Given the description of an element on the screen output the (x, y) to click on. 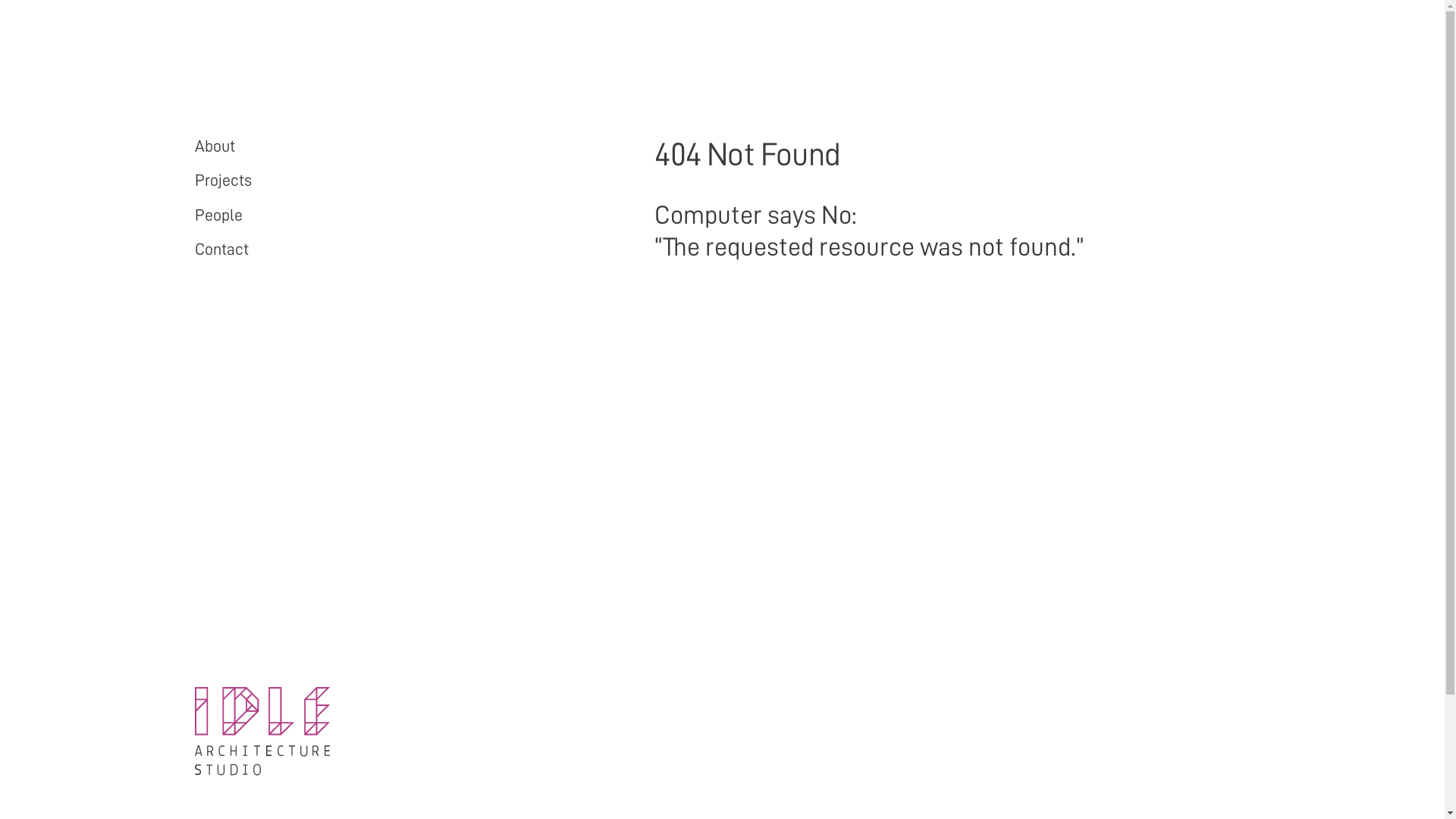
People Element type: text (217, 215)
Contact Element type: text (220, 249)
About Element type: text (214, 146)
Projects Element type: text (222, 180)
